Given the description of an element on the screen output the (x, y) to click on. 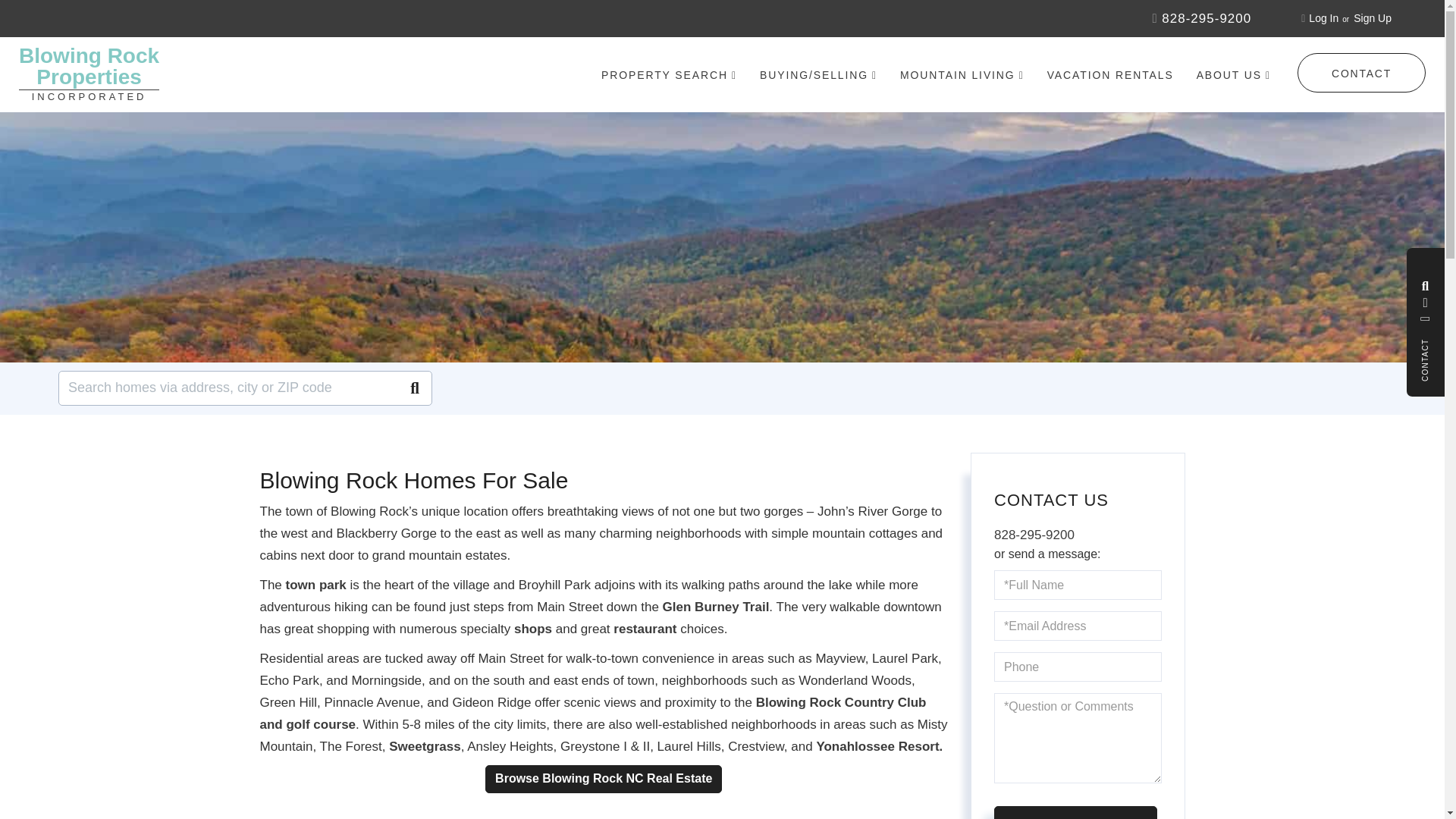
Search Listings (1425, 288)
CONTACT (1361, 72)
PROPERTY SEARCH (668, 75)
MOUNTAIN LIVING (962, 75)
828-295-9200 (1200, 18)
VACATION RENTALS (1109, 74)
ABOUT US (1233, 75)
Log In (88, 74)
Sign Up (1323, 18)
